Given the description of an element on the screen output the (x, y) to click on. 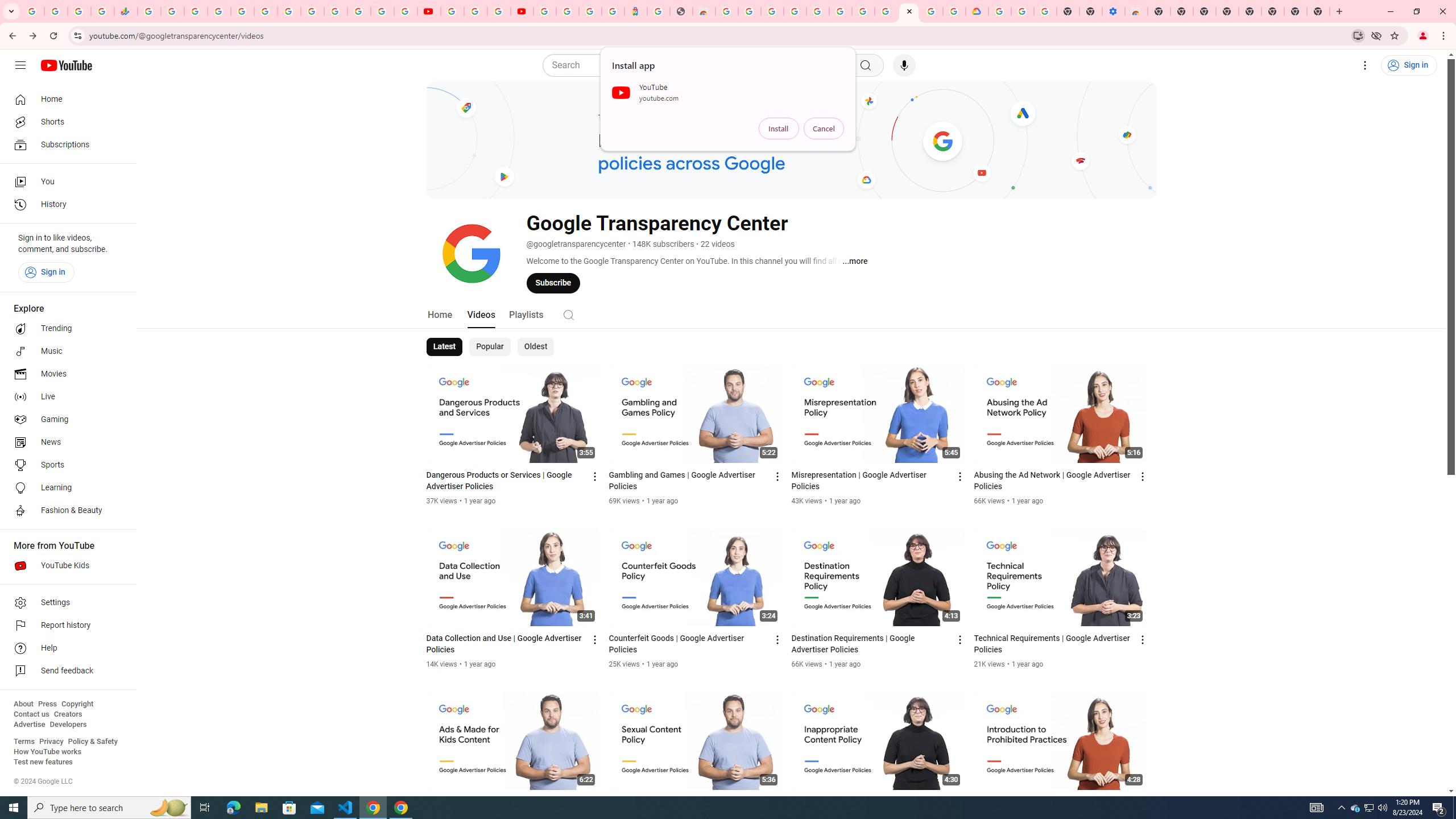
Music (64, 350)
Trending (64, 328)
Chrome Web Store - Household (703, 11)
